Given the description of an element on the screen output the (x, y) to click on. 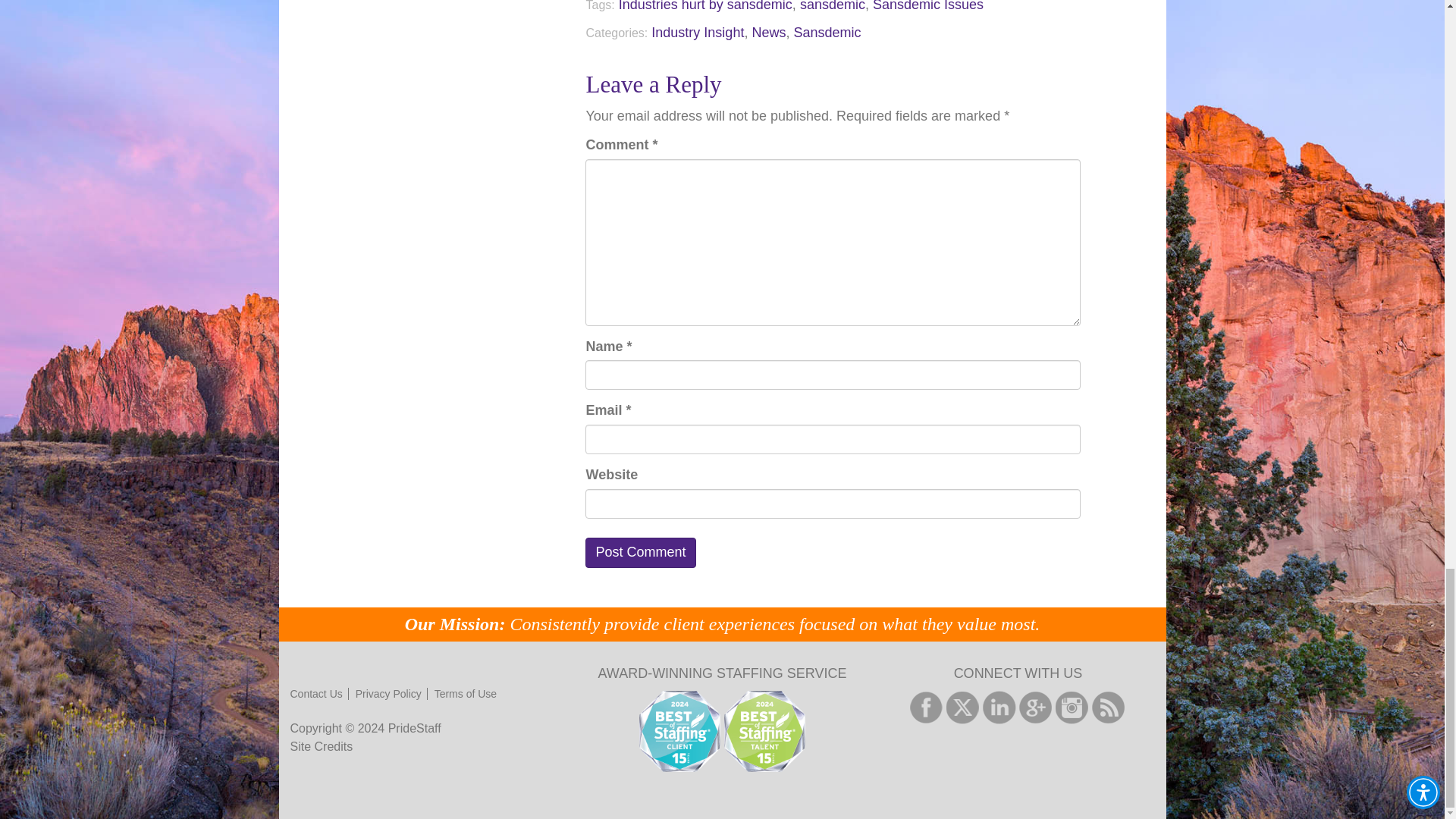
Post Comment (640, 552)
